Given the description of an element on the screen output the (x, y) to click on. 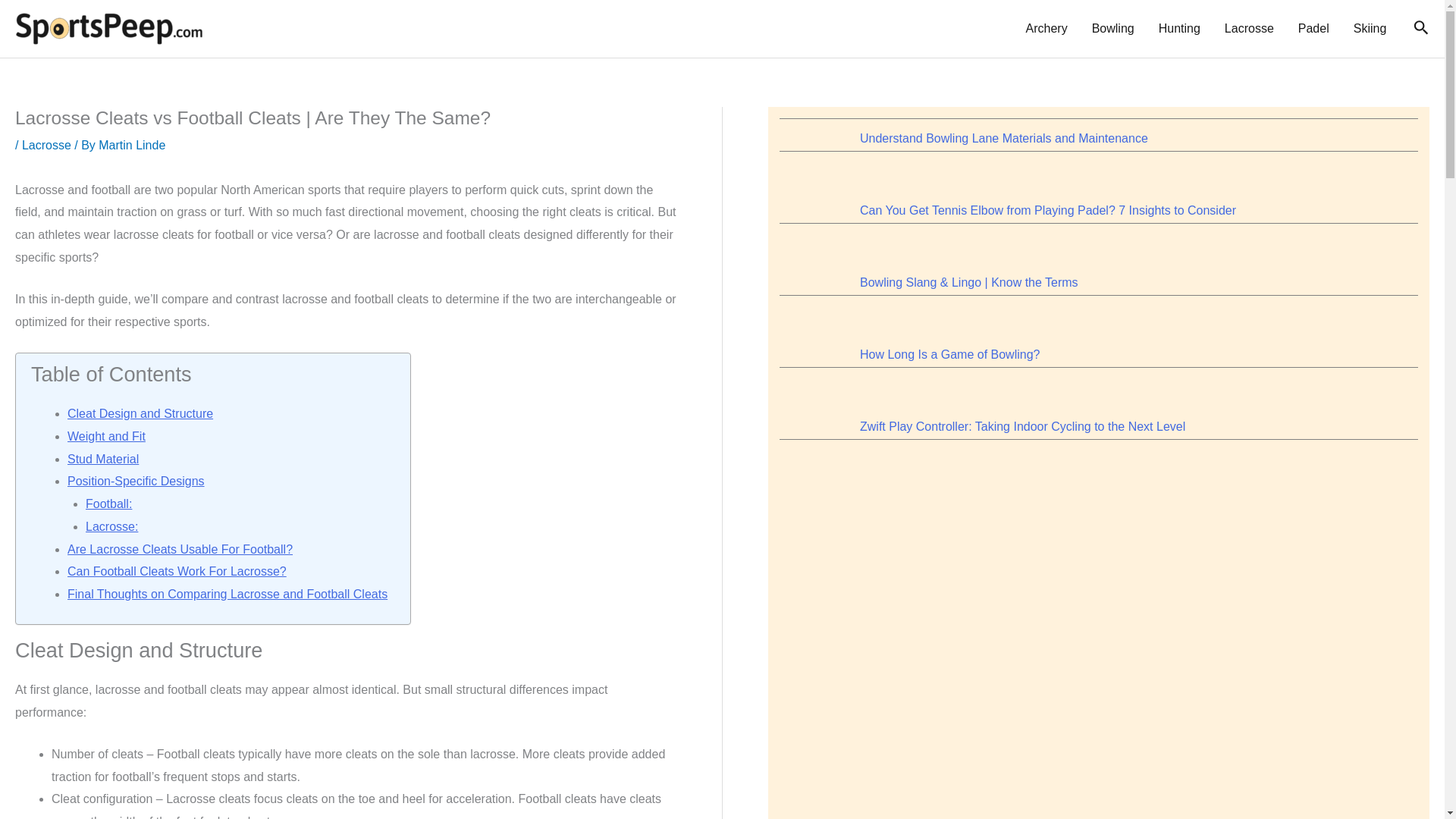
Cleat Design and Structure (139, 413)
Lacrosse: (111, 526)
Padel (1312, 28)
View all posts by Martin Linde (132, 144)
Can Football Cleats Work For Lacrosse? (176, 571)
Football: (108, 503)
Lacrosse (1248, 28)
Lacrosse (46, 144)
Martin Linde (132, 144)
Stud Material (102, 459)
